Given the description of an element on the screen output the (x, y) to click on. 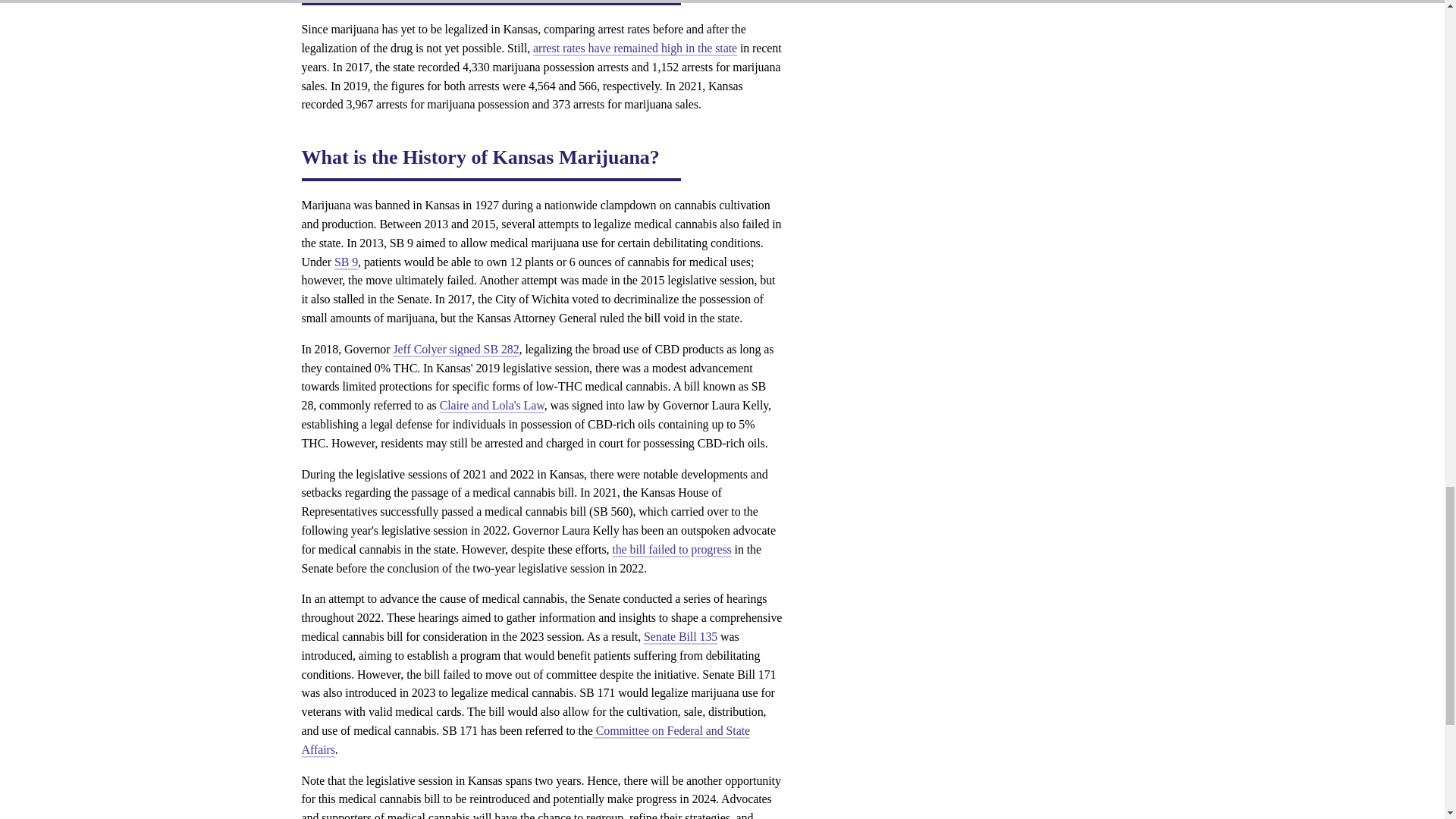
Claire and Lola's Law (491, 404)
Jeff Colyer signed SB 282 (455, 349)
Committee on Federal and State Affairs (526, 739)
SB 9 (346, 261)
arrest rates have remained high in the state (634, 47)
the bill failed to progress (670, 549)
Senate Bill 135 (680, 635)
